Given the description of an element on the screen output the (x, y) to click on. 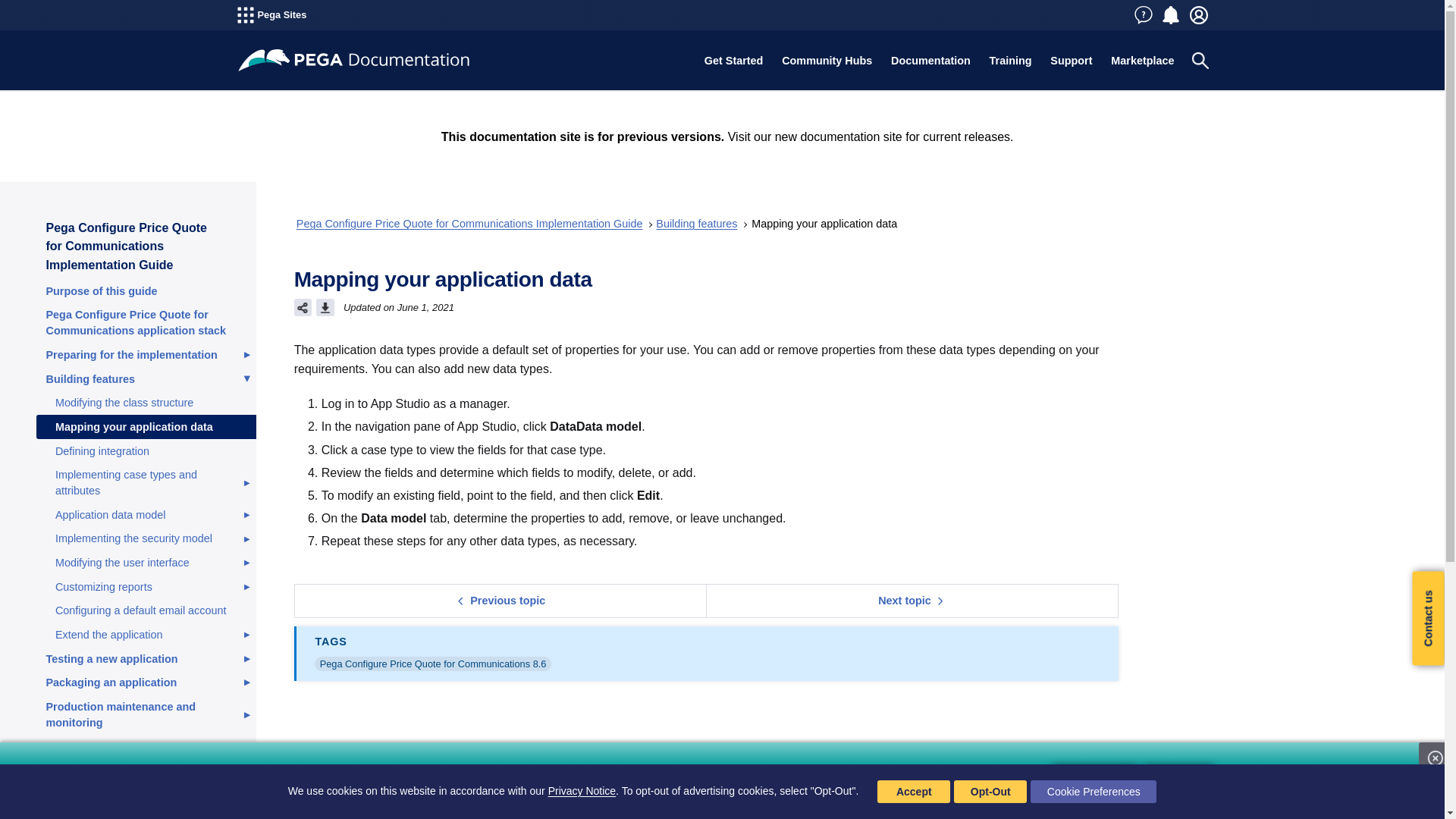
Toggle Search Panel (1200, 60)
Community Hubs (827, 60)
Get Started (732, 60)
